Given the description of an element on the screen output the (x, y) to click on. 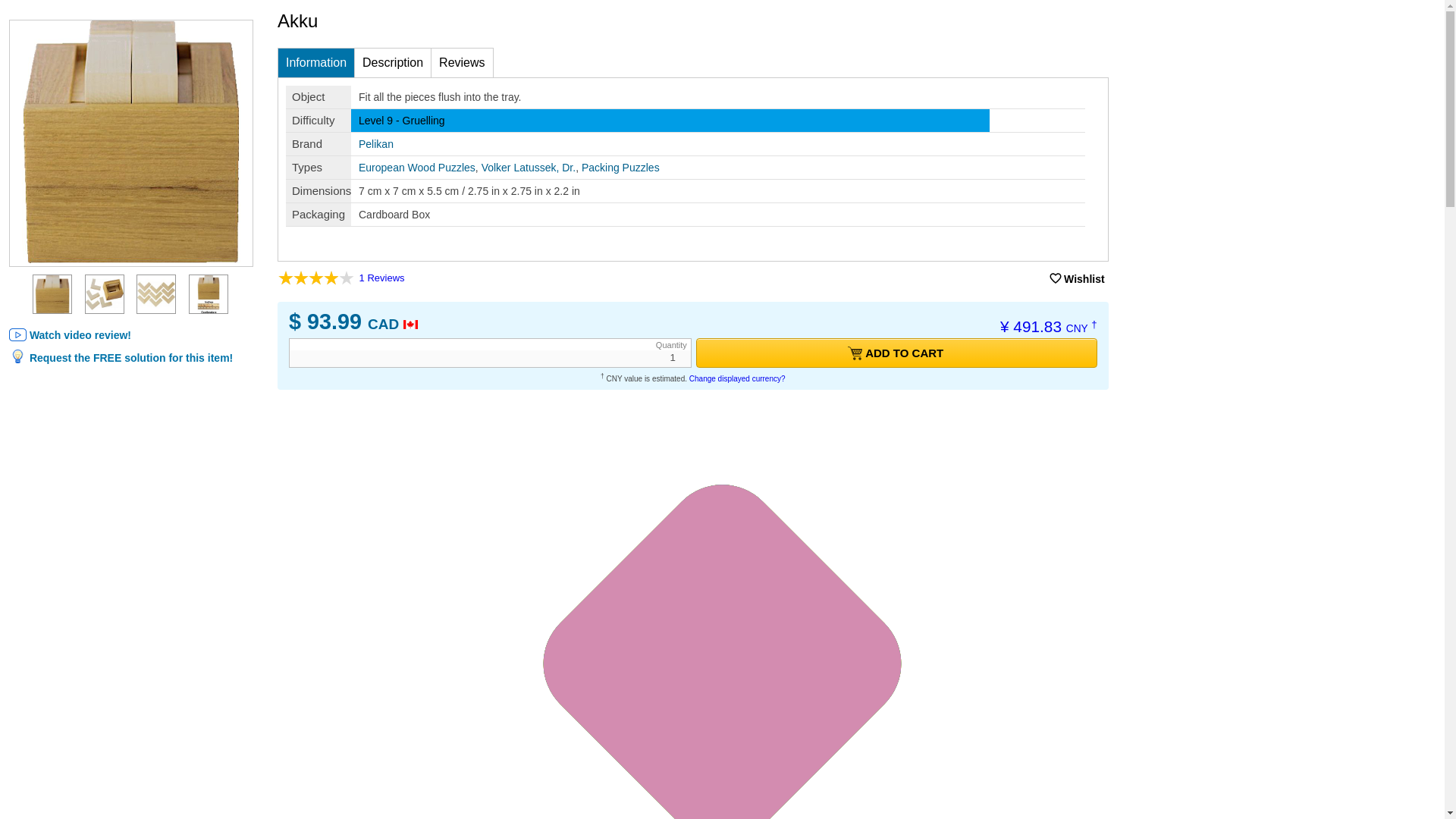
Pelikan (375, 143)
Akku (208, 293)
Description (392, 62)
4 out of 5 stars (315, 278)
Request the FREE solution for this item! (120, 357)
Level 9 - Gruelling (401, 120)
Akku (156, 293)
Change displayed currency? (737, 378)
Volker Latussek, Dr. (528, 167)
Reviews (461, 62)
